Given the description of an element on the screen output the (x, y) to click on. 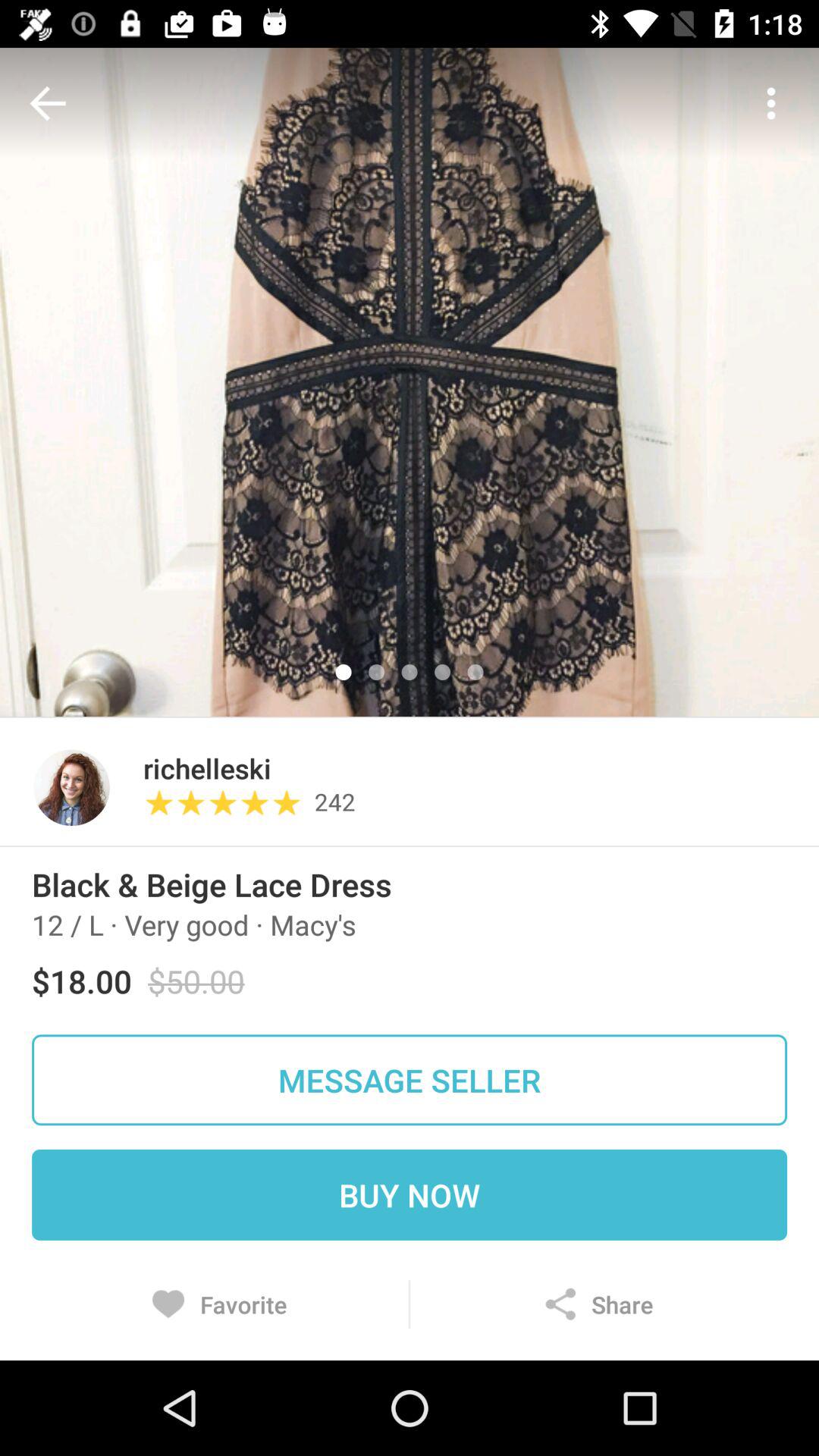
select the richelleski (207, 768)
